Given the description of an element on the screen output the (x, y) to click on. 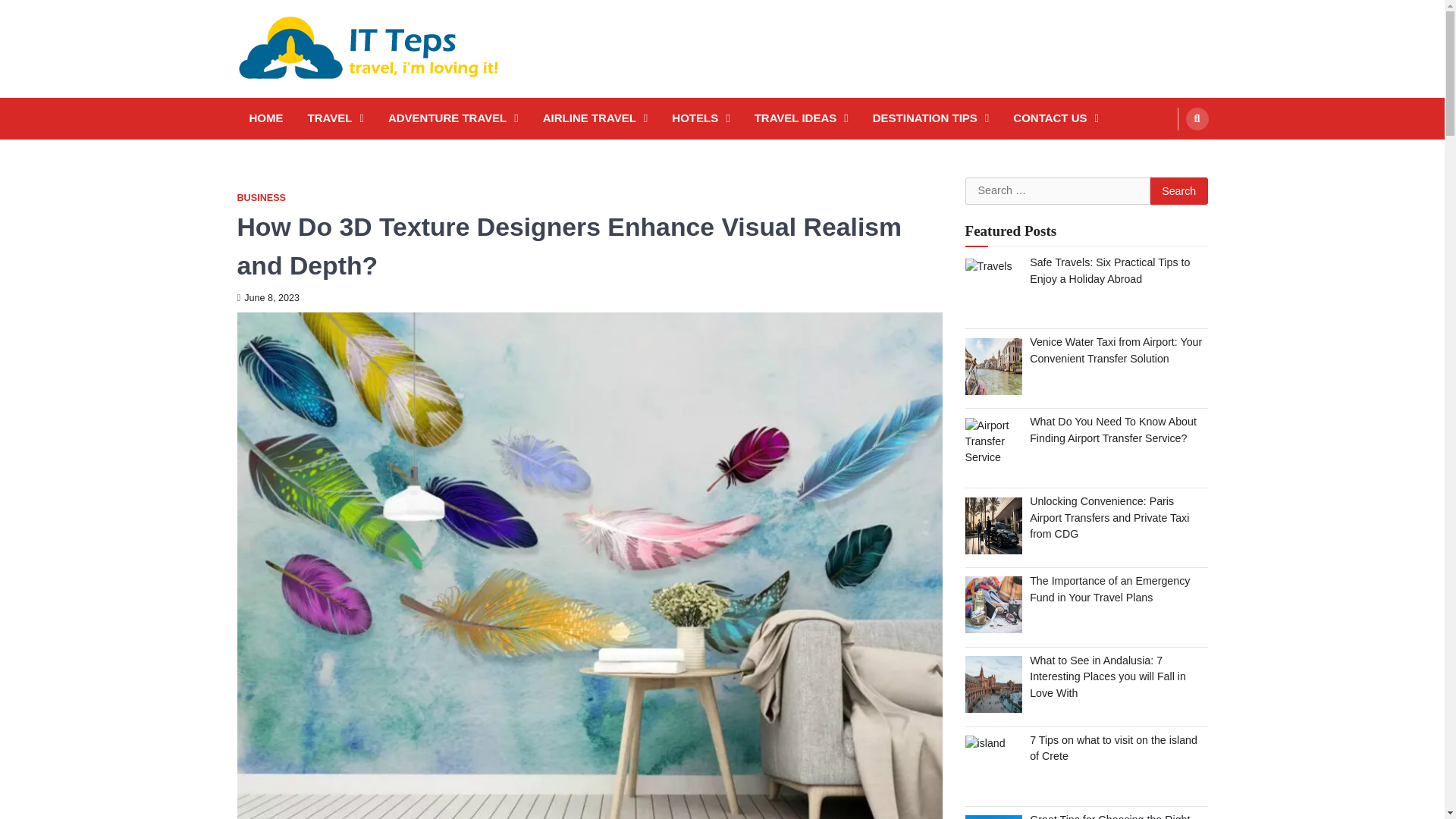
TRAVEL IDEAS (801, 118)
June 8, 2023 (267, 297)
TRAVEL (335, 118)
BUSINESS (260, 197)
Search (1197, 118)
Search (1179, 190)
Search (1179, 190)
Search (1179, 190)
Travel Plan (992, 604)
